Given the description of an element on the screen output the (x, y) to click on. 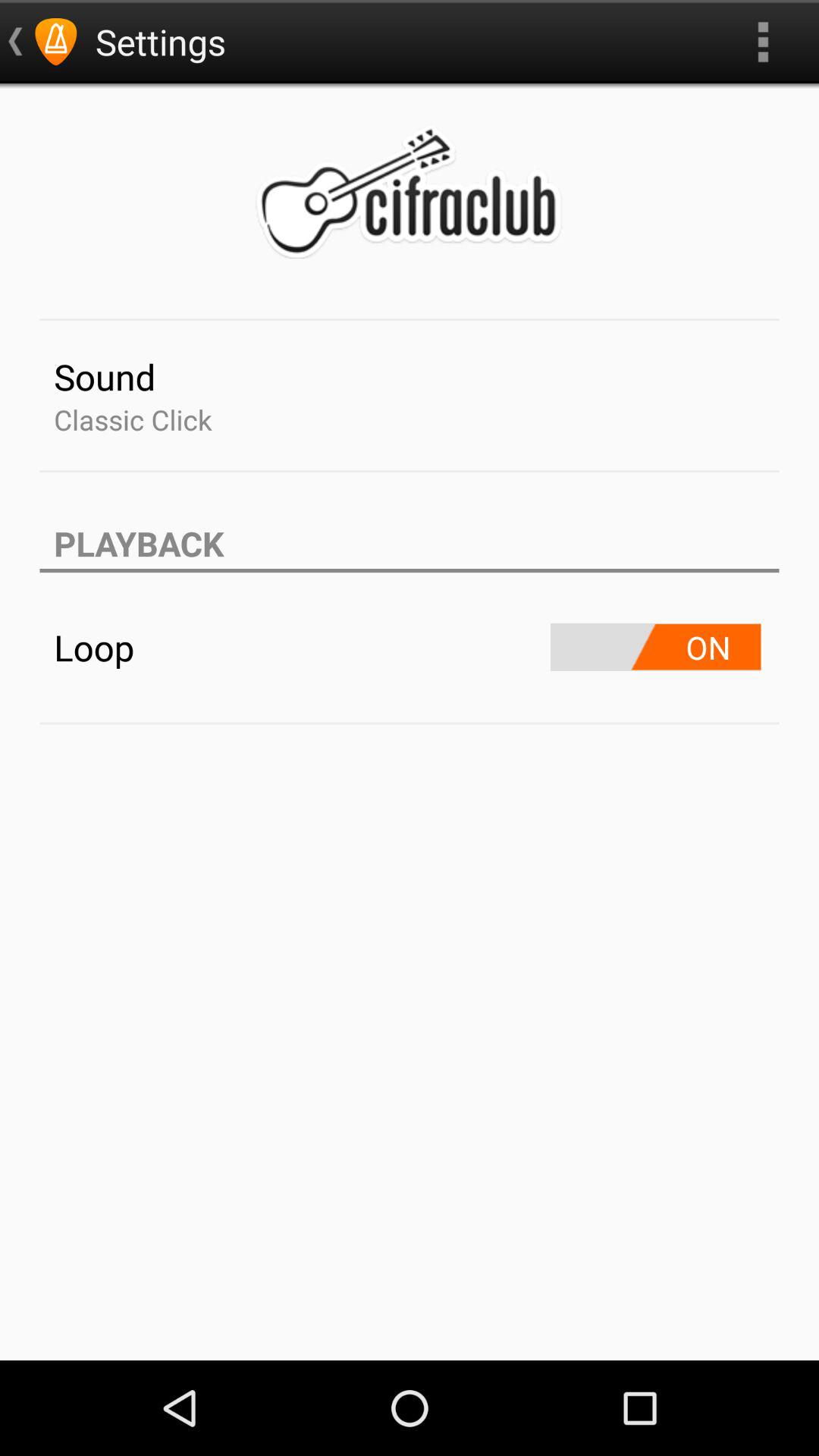
loop on (655, 647)
